Given the description of an element on the screen output the (x, y) to click on. 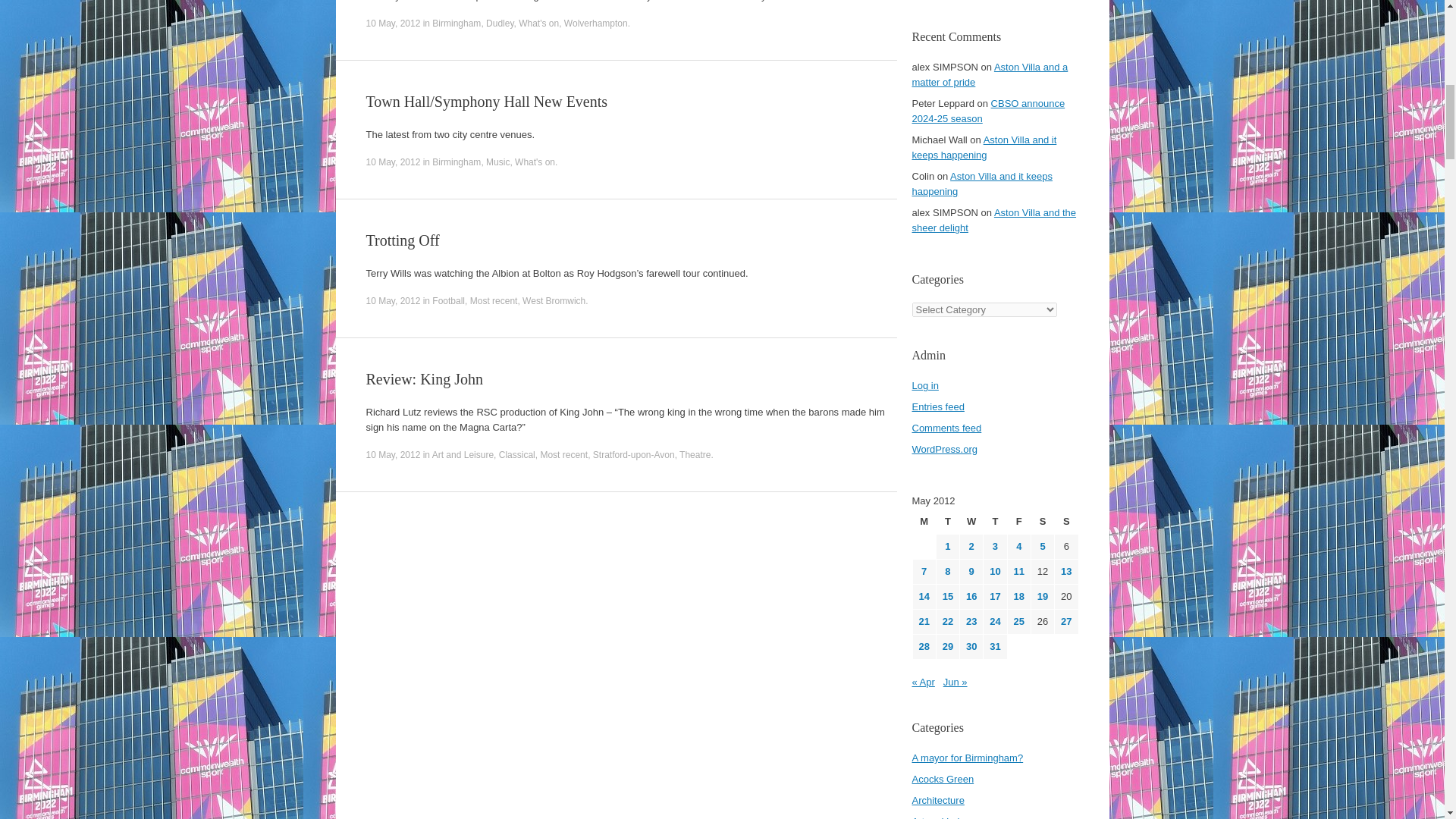
Friday (1018, 521)
Most recent (564, 454)
10 May, 2012 (392, 300)
Most recent (494, 300)
Review: King John (423, 379)
Dudley (499, 23)
10 May, 2012 (392, 162)
Stratford-upon-Avon (633, 454)
Art and Leisure (462, 454)
What's on (534, 162)
Wolverhampton (595, 23)
What's on (538, 23)
Birmingham (456, 162)
Wednesday (970, 521)
Music (497, 162)
